Given the description of an element on the screen output the (x, y) to click on. 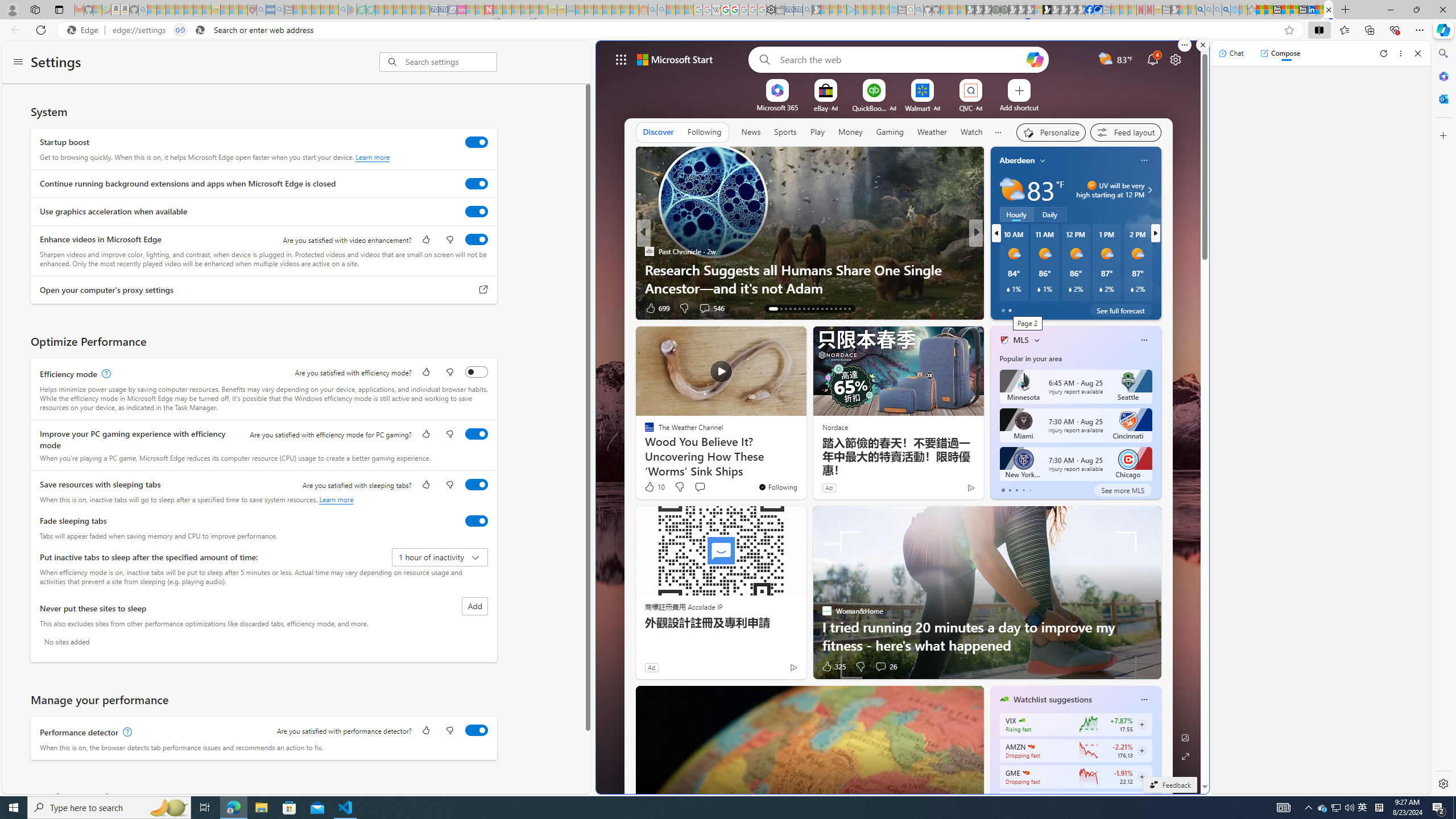
AutomationID: tab-13 (769, 308)
View comments 6 Comment (1054, 307)
Terms of Use Agreement - Sleeping (361, 9)
Body Network (999, 269)
AQI & Health | AirNow.gov (1098, 9)
DITOGAMES AG Imprint - Sleeping (570, 9)
